Given the description of an element on the screen output the (x, y) to click on. 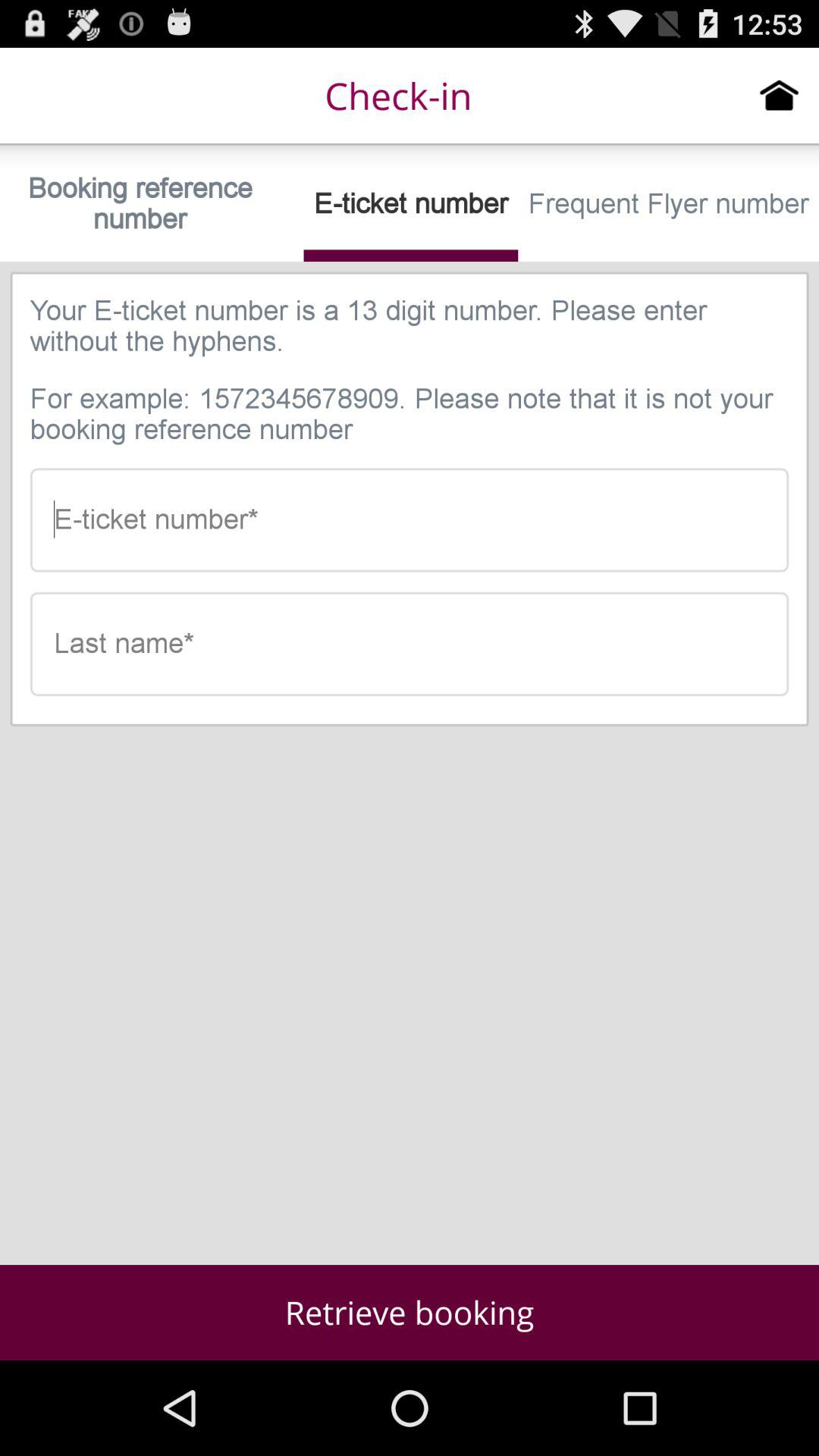
press the item to the right of check-in icon (779, 95)
